Given the description of an element on the screen output the (x, y) to click on. 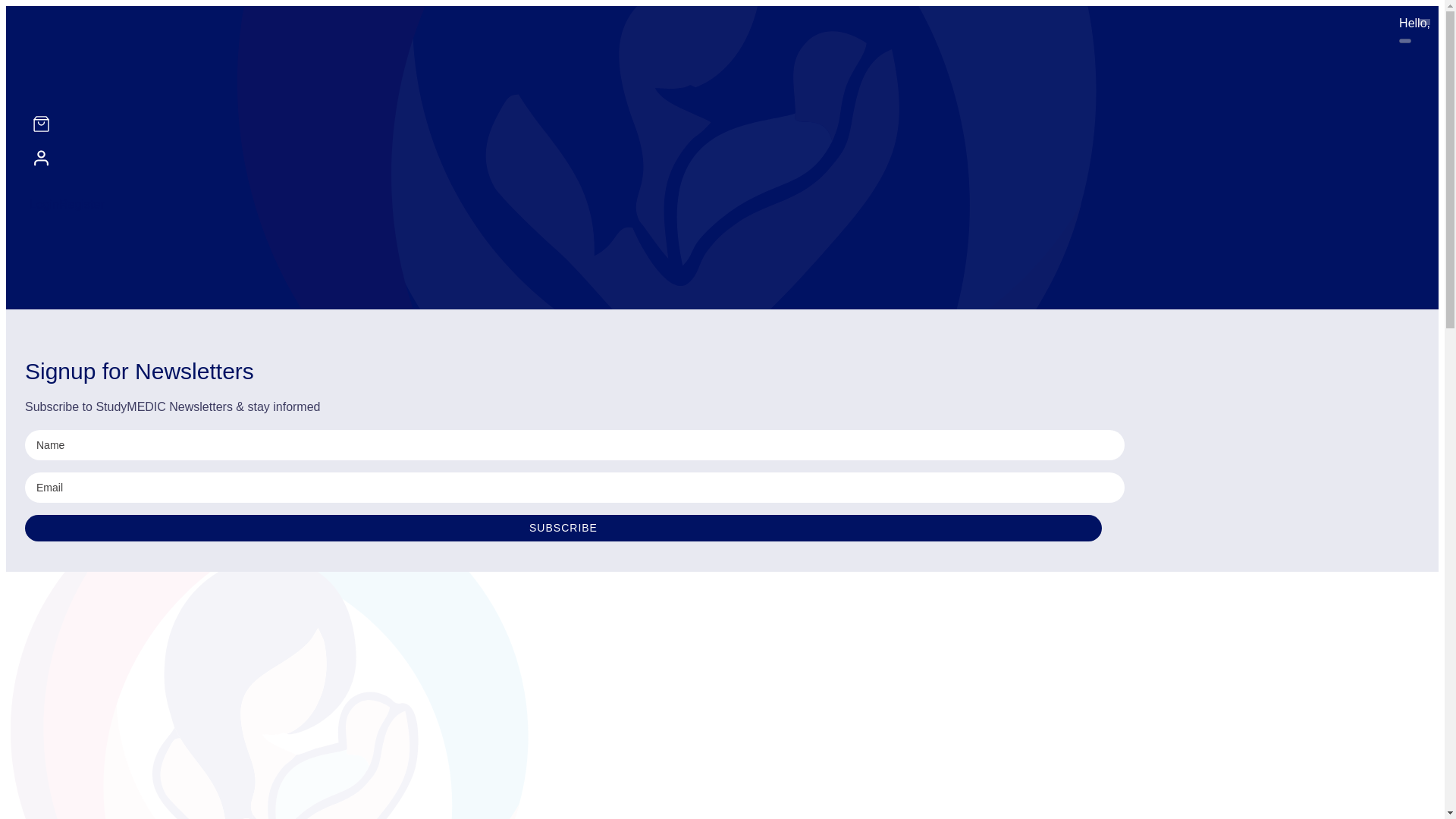
Subscribe (563, 528)
Login (44, 204)
Subscribe (563, 528)
Register (81, 204)
